Given the description of an element on the screen output the (x, y) to click on. 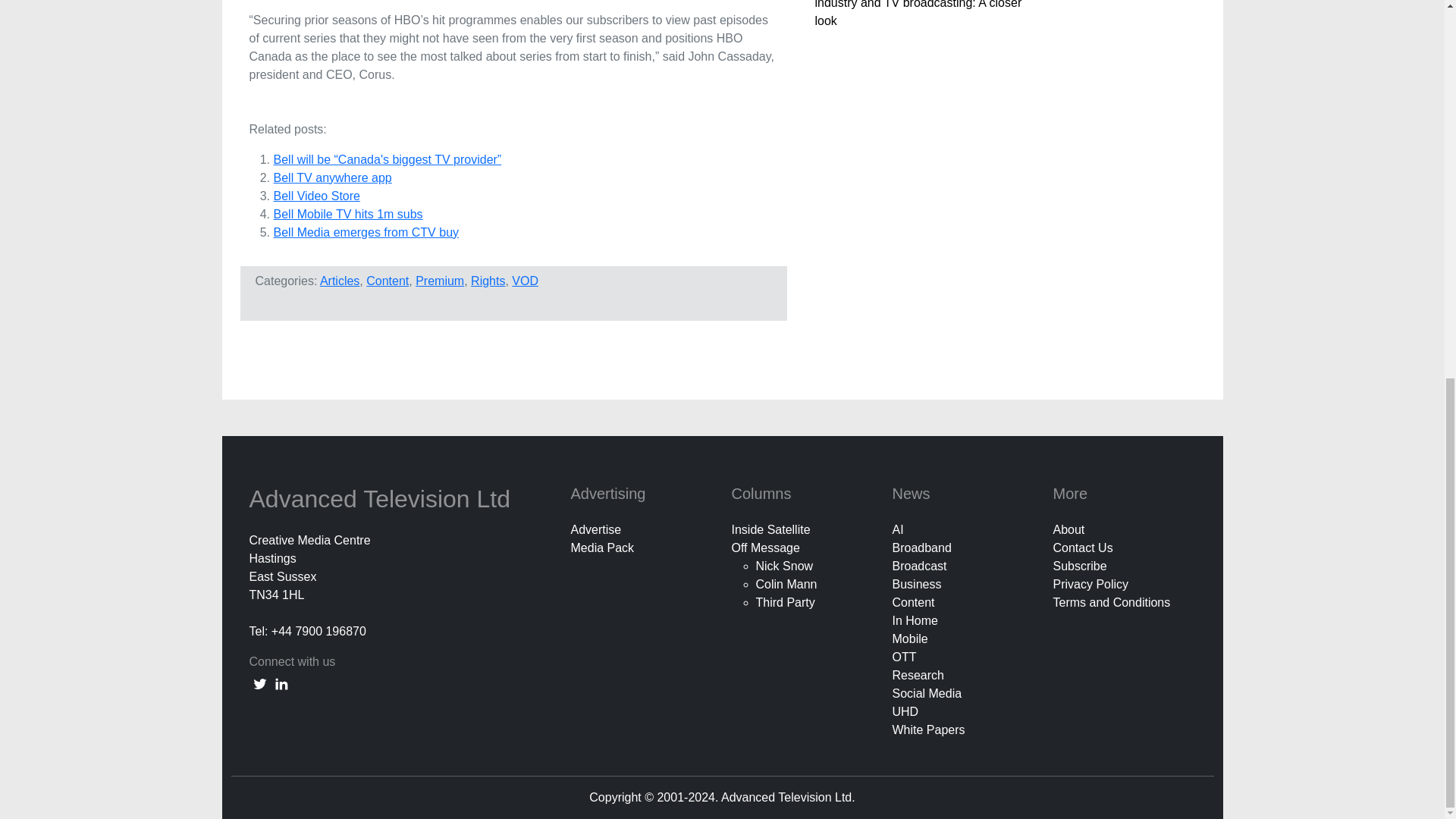
Bell TV anywhere app (332, 177)
Bell Media emerges from CTV buy (365, 232)
Bell TV anywhere app (332, 177)
Bell Mobile TV hits 1m subs (347, 214)
Premium (439, 280)
Content (387, 280)
Bell Video Store (316, 195)
Bell Media emerges from CTV buy (365, 232)
Articles (339, 280)
Rights (487, 280)
